Given the description of an element on the screen output the (x, y) to click on. 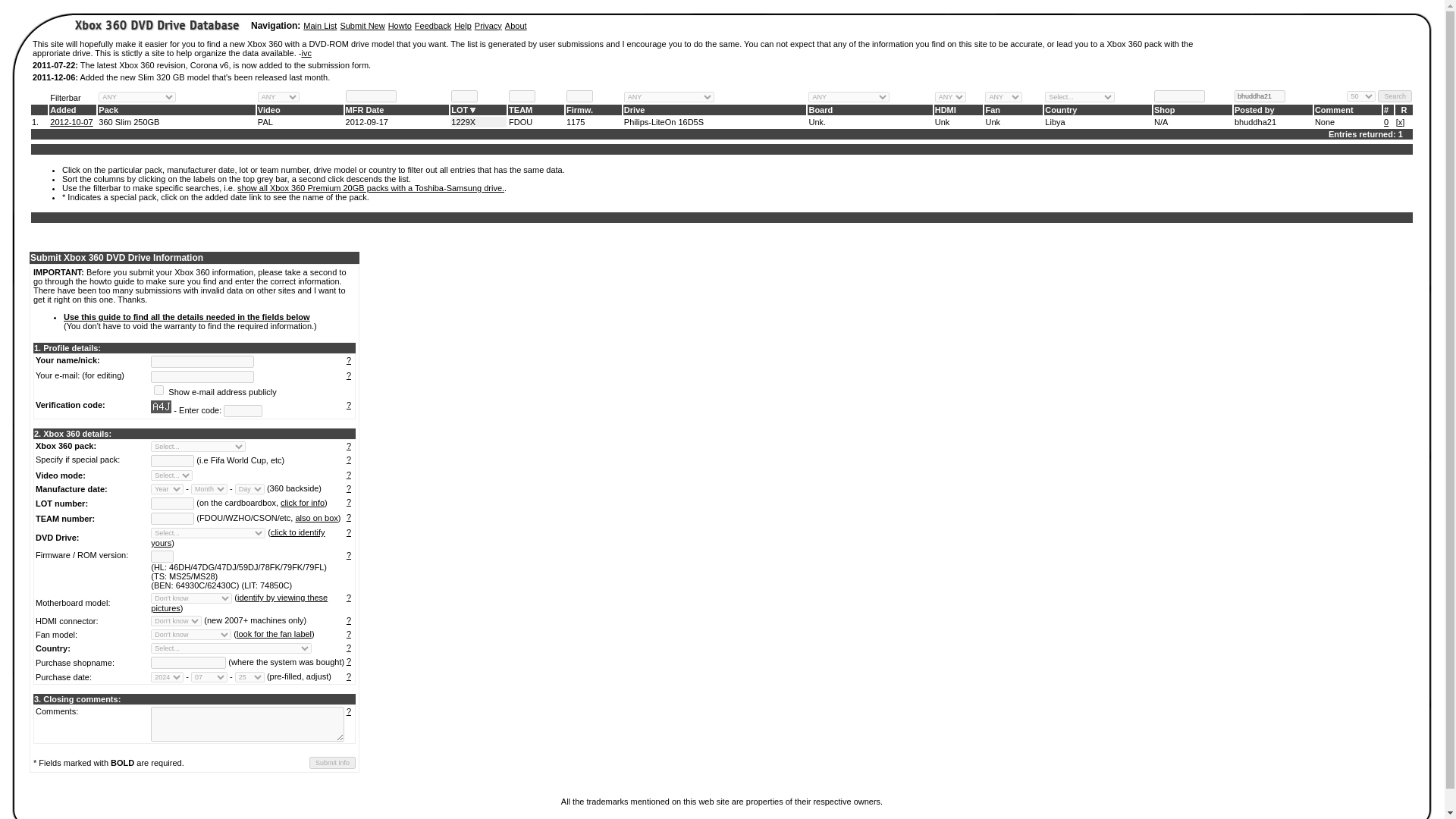
TEAM (520, 109)
Added (62, 109)
Unk (992, 121)
Privacy (488, 25)
Feedback (432, 25)
Main List (319, 25)
Search (1394, 96)
bhuddha21 (1255, 121)
Posted by (1254, 109)
Unk (942, 121)
MFR Date (365, 109)
Howto (400, 25)
2012-09-17 (367, 121)
ivc (306, 52)
0 (1386, 121)
